Given the description of an element on the screen output the (x, y) to click on. 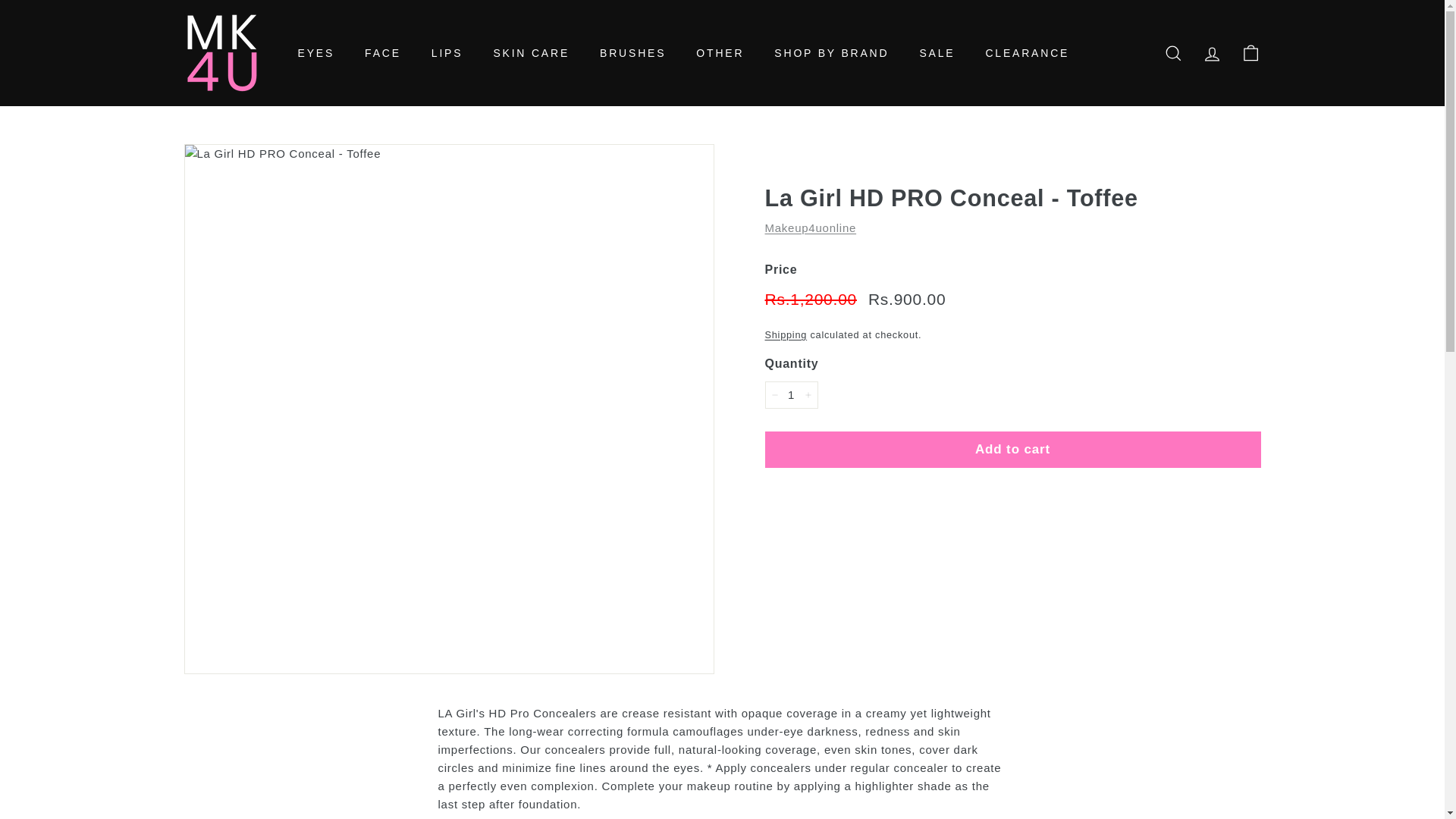
Makeup4uonline (810, 227)
1 (790, 394)
SHOP BY BRAND (831, 52)
EYES (315, 52)
OTHER (719, 52)
FACE (382, 52)
SKIN CARE (531, 52)
LIPS (447, 52)
BRUSHES (633, 52)
